Given the description of an element on the screen output the (x, y) to click on. 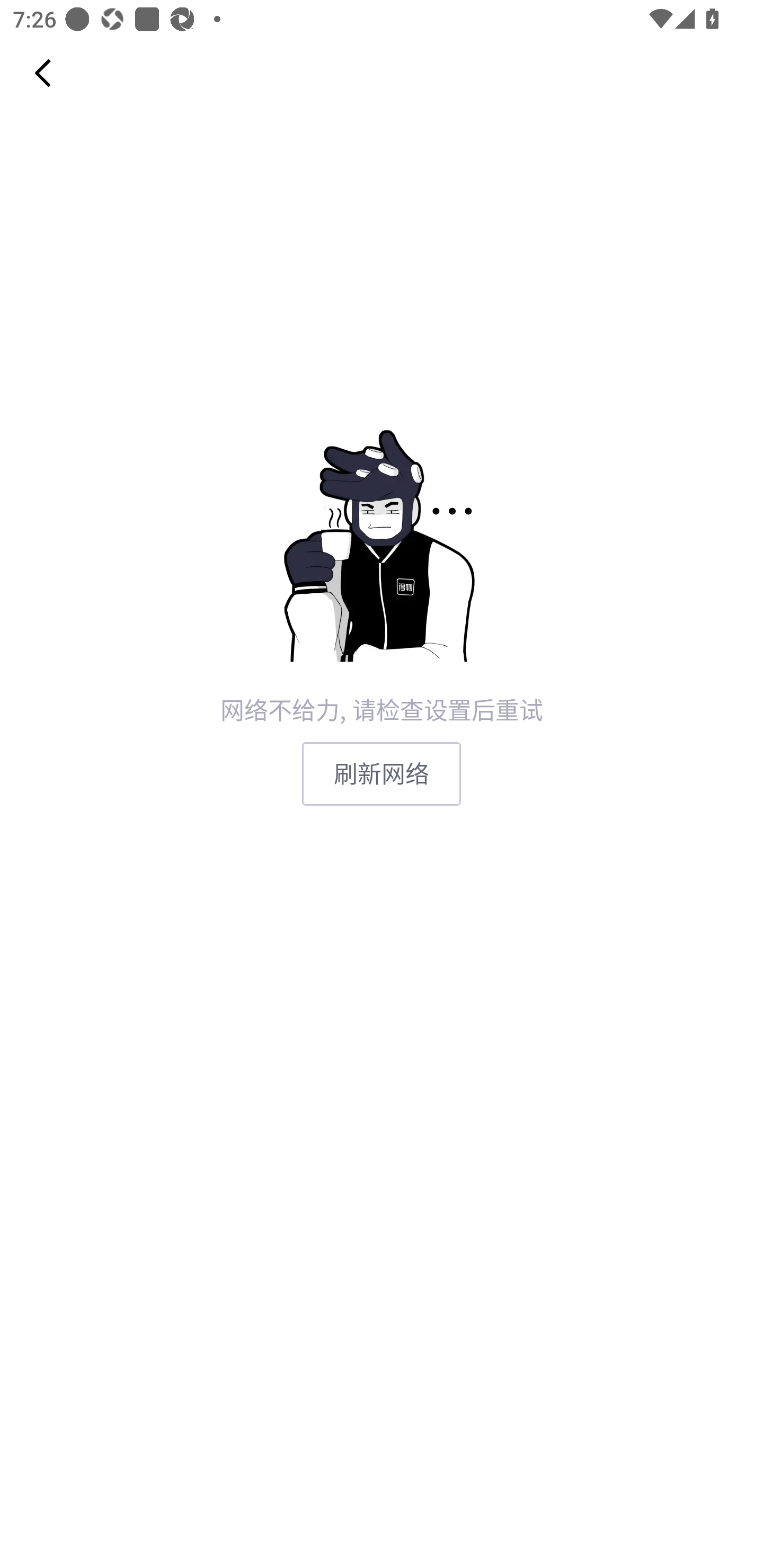
刷新网络 (381, 773)
